Given the description of an element on the screen output the (x, y) to click on. 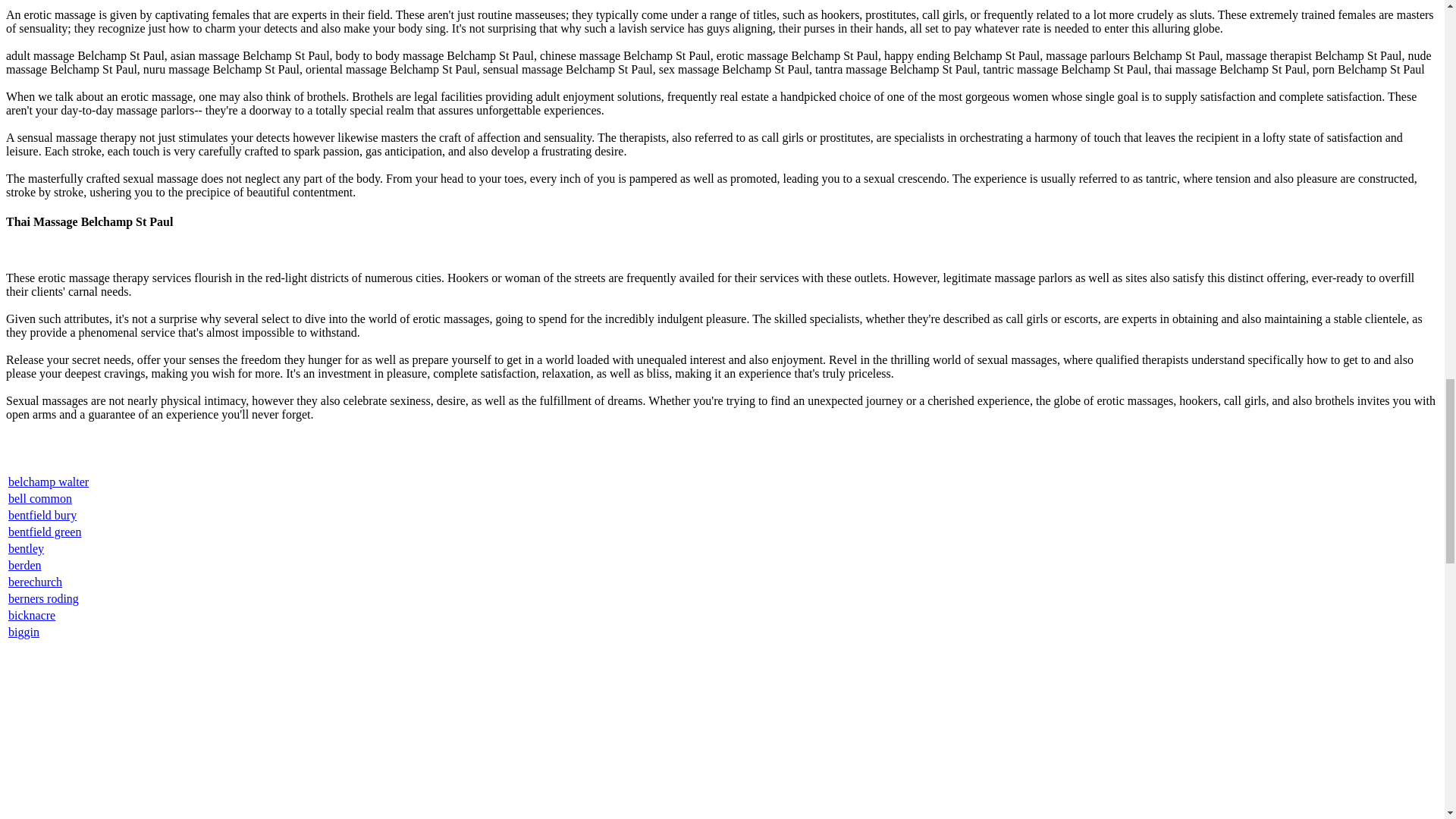
belchamp walter (48, 481)
bentfield green (44, 531)
bentfield bury (42, 514)
bicknacre (31, 615)
bentley (25, 548)
biggin (23, 631)
berden (25, 564)
berners roding (43, 598)
bell common (39, 498)
berechurch (35, 581)
